Given the description of an element on the screen output the (x, y) to click on. 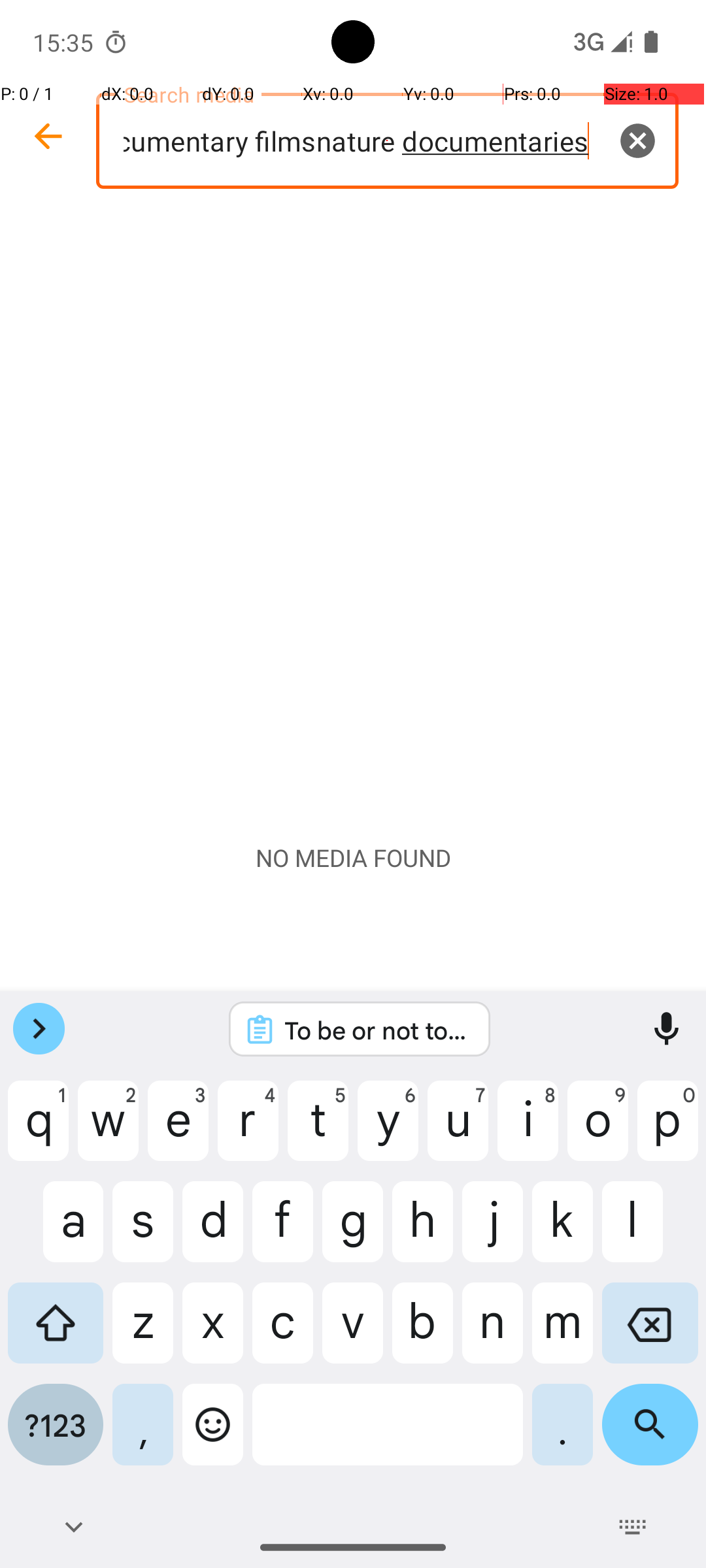
documentary filmsnature documentaries Element type: android.widget.EditText (387, 140)
NO MEDIA FOUND Element type: android.widget.TextView (353, 857)
